Given the description of an element on the screen output the (x, y) to click on. 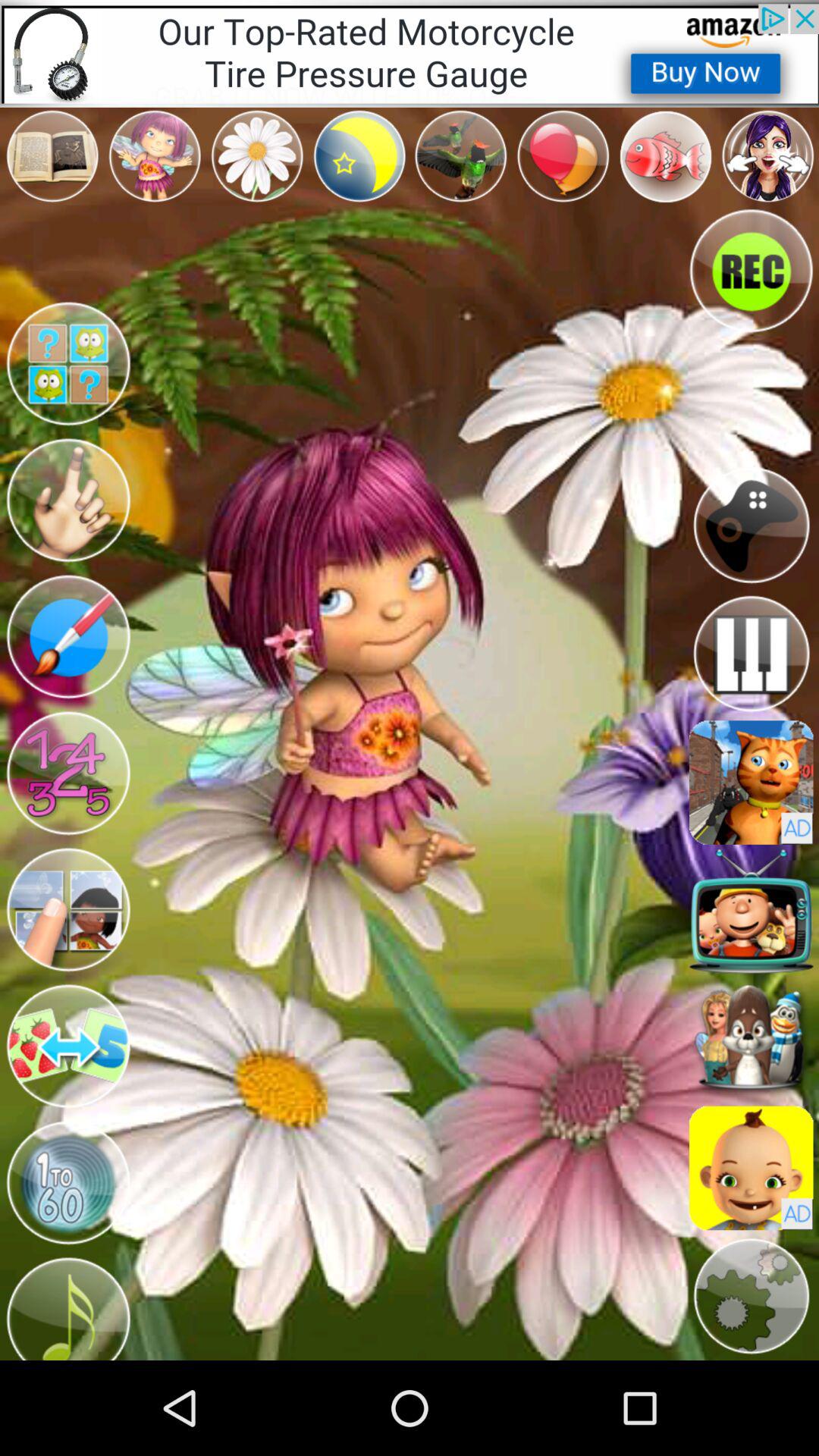
play music (68, 1305)
